Given the description of an element on the screen output the (x, y) to click on. 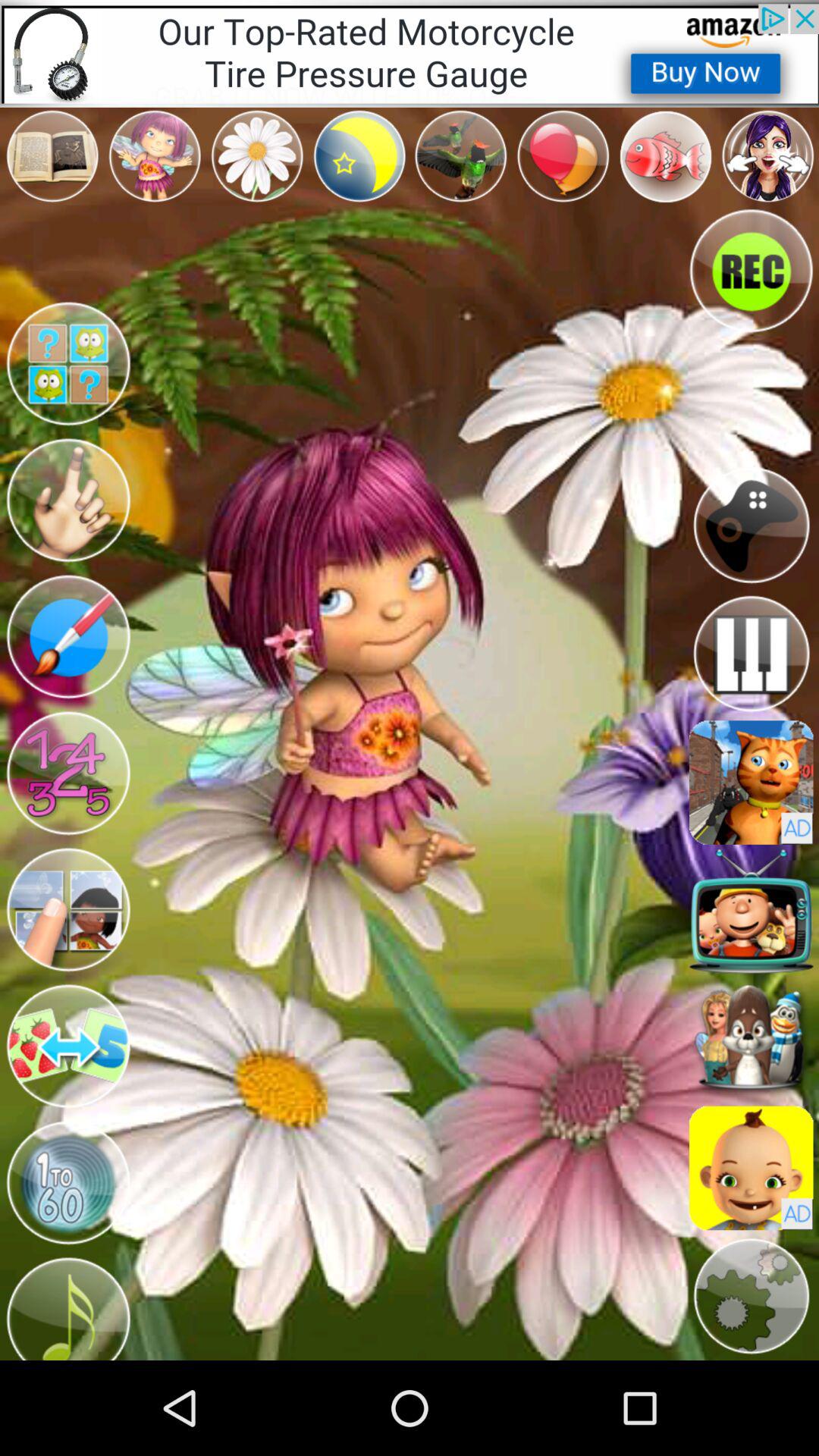
play music (68, 1305)
